Given the description of an element on the screen output the (x, y) to click on. 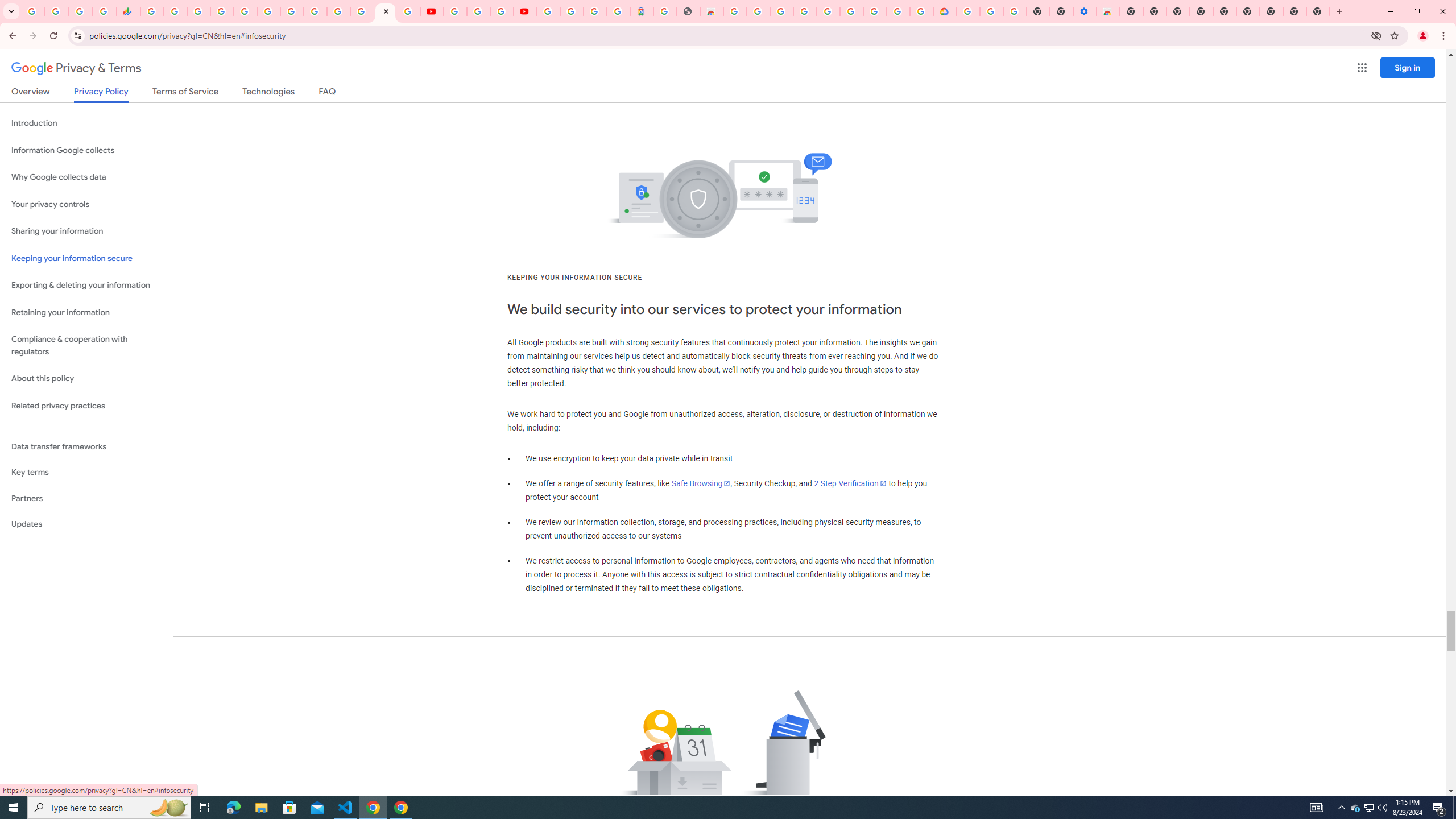
Android TV Policies and Guidelines - Transparency Center (291, 11)
Chrome Web Store - Household (711, 11)
Chrome Web Store - Accessibility extensions (1108, 11)
